Given the description of an element on the screen output the (x, y) to click on. 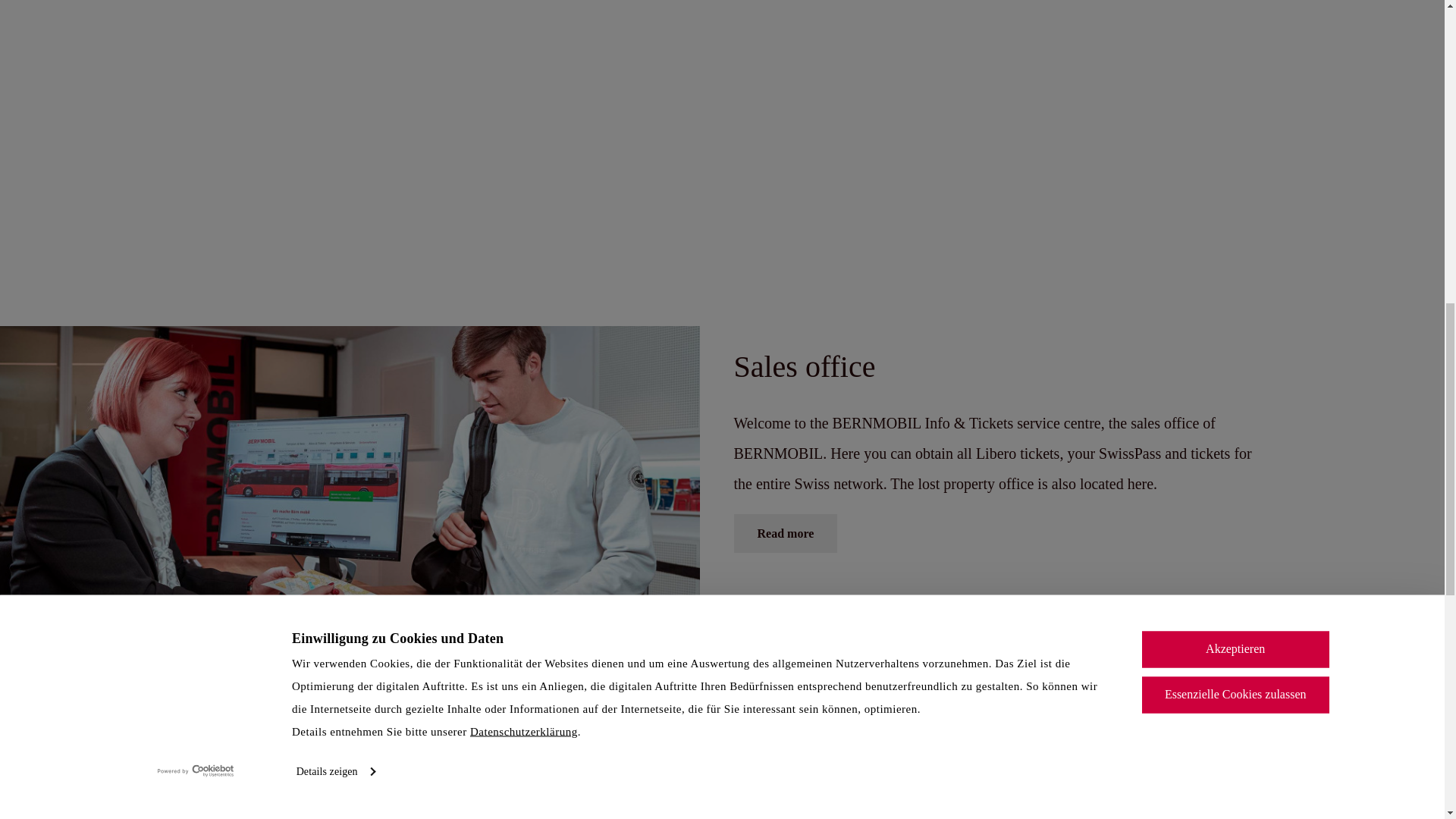
Read more (785, 533)
